Given the description of an element on the screen output the (x, y) to click on. 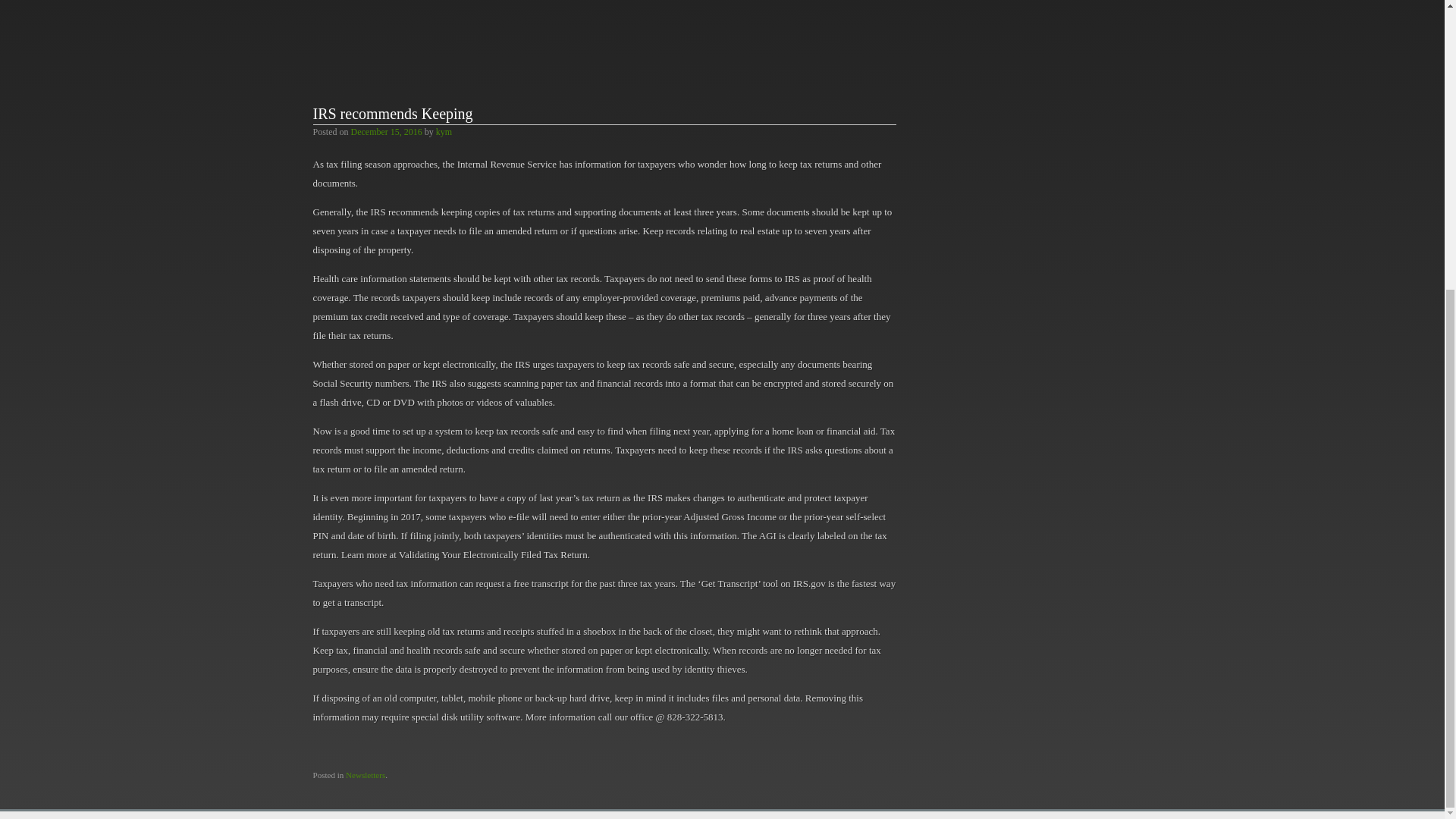
View all posts by kym (443, 131)
8:51 pm (386, 131)
